Given the description of an element on the screen output the (x, y) to click on. 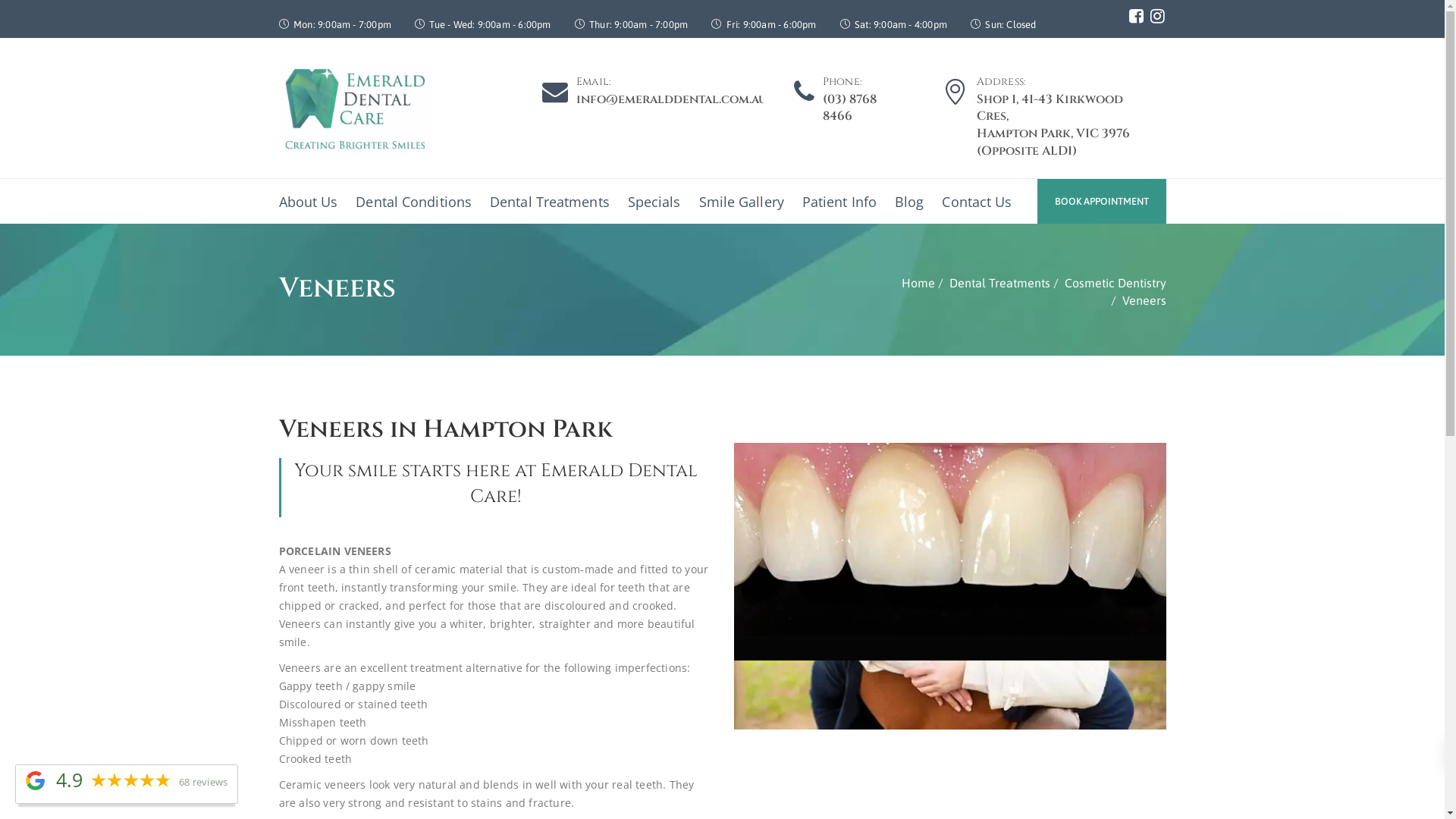
BOOK APPOINTMENT Element type: text (1101, 200)
Home Element type: text (917, 282)
Email: Element type: text (593, 81)
Smile Gallery Element type: text (741, 200)
Dental Treatments Element type: text (999, 282)
Powered by Google Element type: hover (34, 780)
About Us Element type: text (313, 200)
Specials Element type: text (654, 200)
Dental Conditions Element type: text (413, 200)
Cosmetic Dentistry Element type: text (1115, 282)
Patient Info Element type: text (839, 200)
68 reviews Element type: text (202, 781)
Phone: Element type: text (842, 81)
info@emeralddental.com.au Element type: text (671, 99)
Address: Element type: text (1001, 81)
Blog Element type: text (908, 200)
(03) 8768 8466 Element type: text (849, 108)
Contact Us Element type: text (976, 200)
Dental Treatments Element type: text (549, 200)
